Given the description of an element on the screen output the (x, y) to click on. 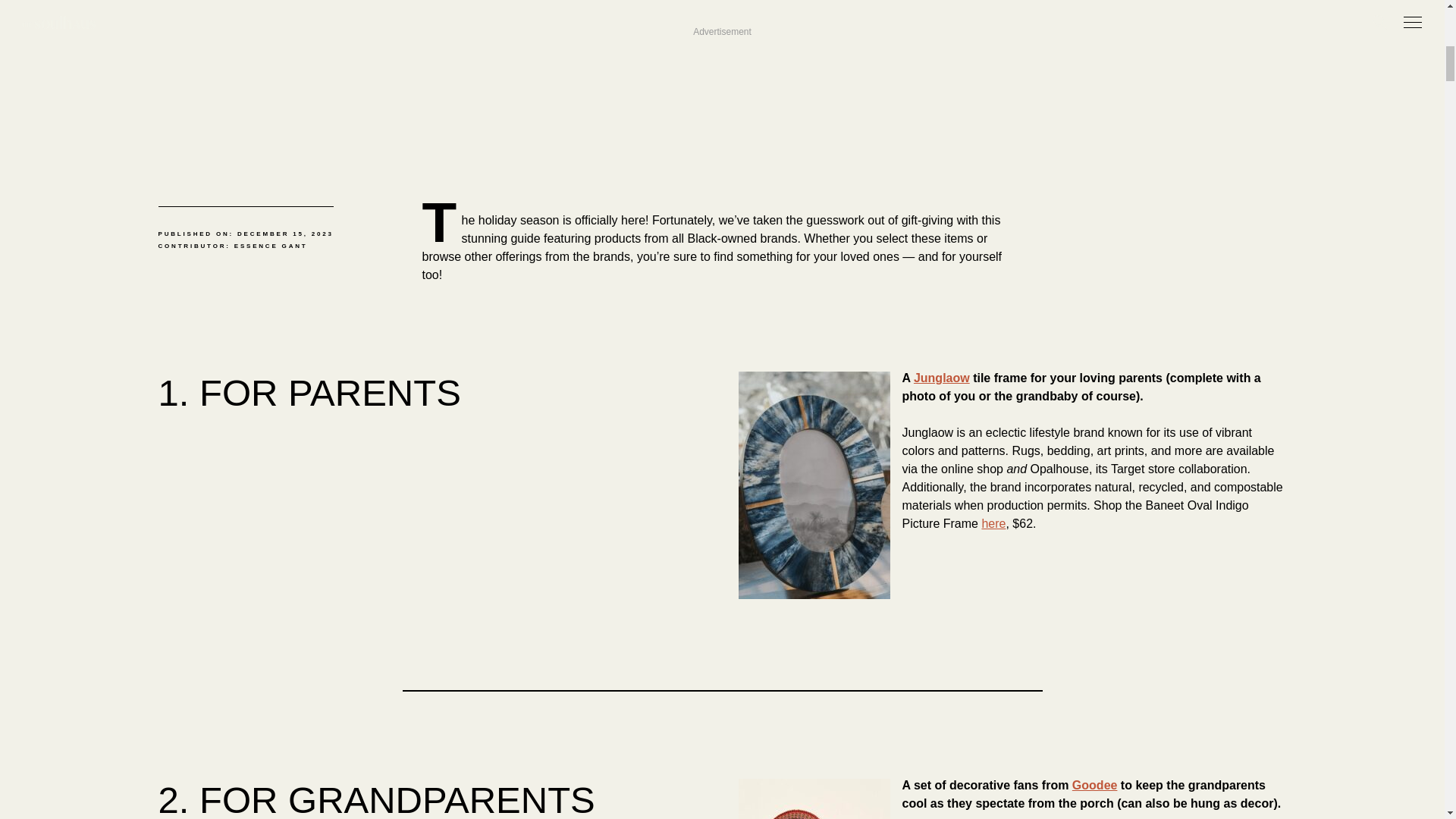
3rd party ad content (721, 70)
here (993, 522)
ESSENCE GANT (270, 245)
Junglaow (941, 377)
Goodee (1094, 784)
